Given the description of an element on the screen output the (x, y) to click on. 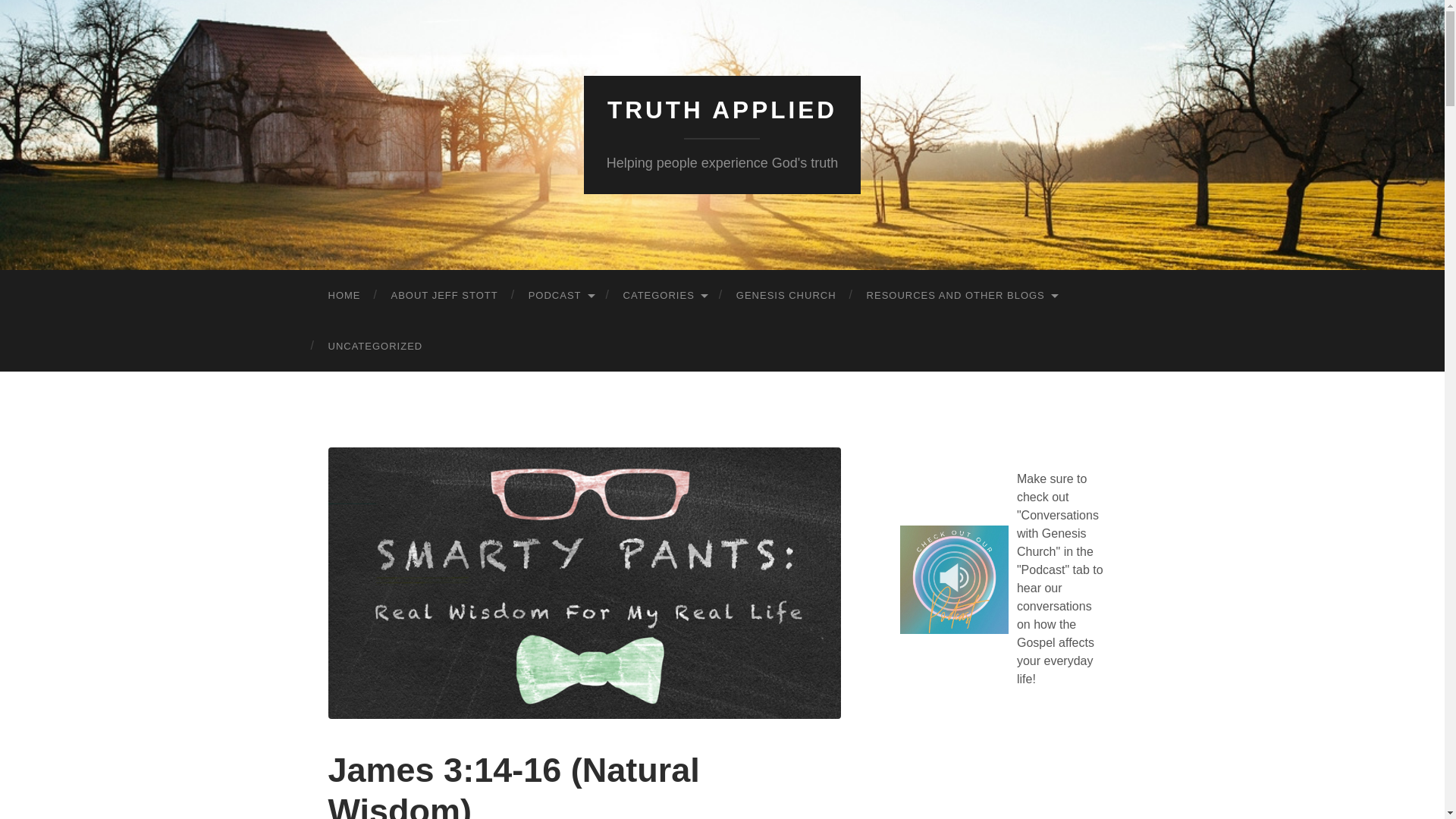
HOME (344, 295)
PODCAST (560, 295)
CATEGORIES (664, 295)
ABOUT JEFF STOTT (444, 295)
TRUTH APPLIED (722, 109)
